Given the description of an element on the screen output the (x, y) to click on. 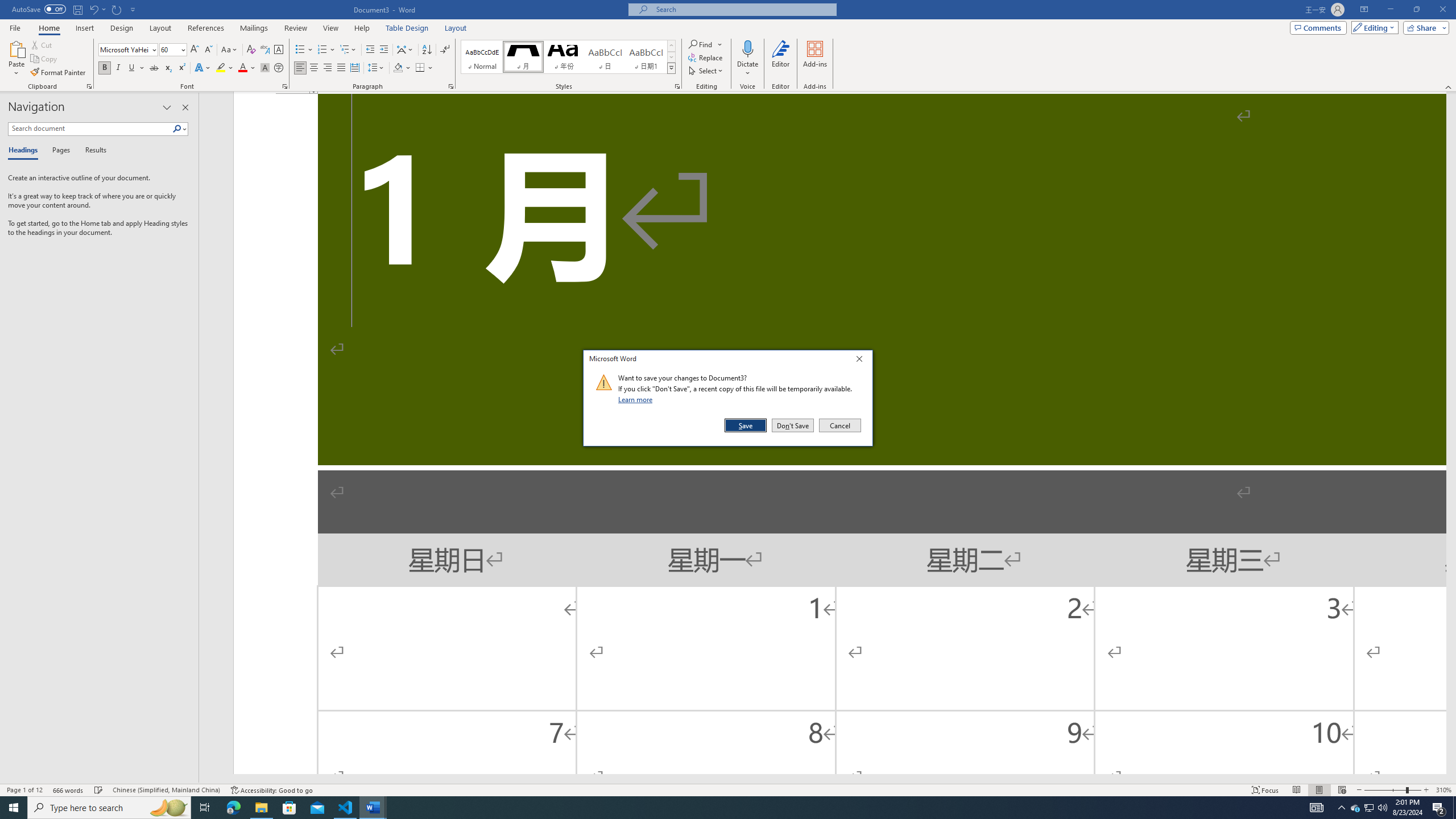
AutomationID: 4105 (1316, 807)
Learn more (636, 399)
Word Count 666 words (68, 790)
Accessibility Checker Accessibility: Good to go (271, 790)
Spelling and Grammar Check Checking (98, 790)
